Given the description of an element on the screen output the (x, y) to click on. 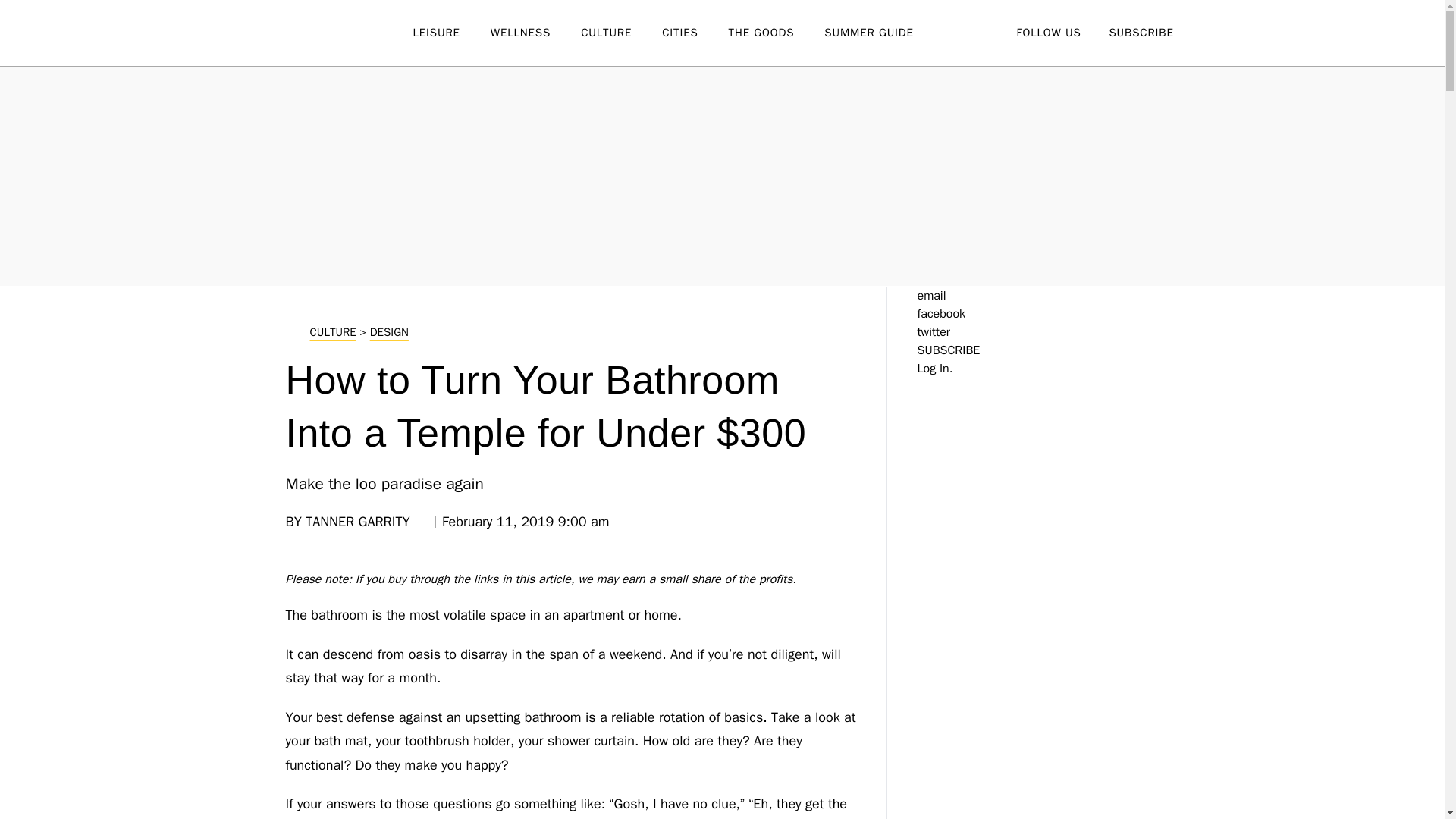
FOLLOW US (1048, 32)
WELLNESS (535, 32)
CULTURE (621, 32)
CITIES (695, 32)
SUMMER GUIDE (883, 32)
SUBSCRIBE (1140, 32)
LEISURE (450, 32)
THE GOODS (777, 32)
